Given the description of an element on the screen output the (x, y) to click on. 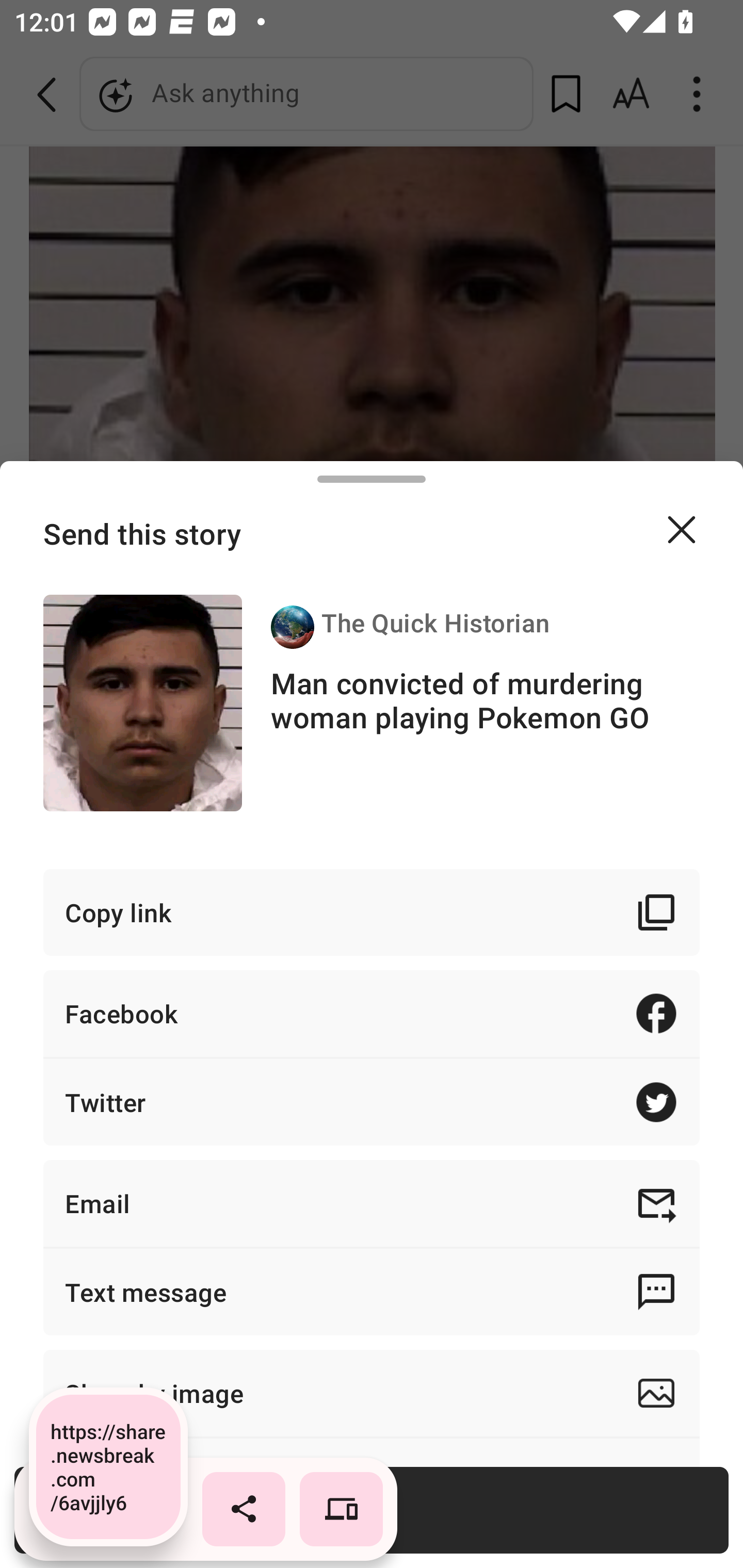
Copy link (371, 912)
Facebook (371, 1013)
Twitter (371, 1102)
Email (371, 1203)
Text message (371, 1291)
